Given the description of an element on the screen output the (x, y) to click on. 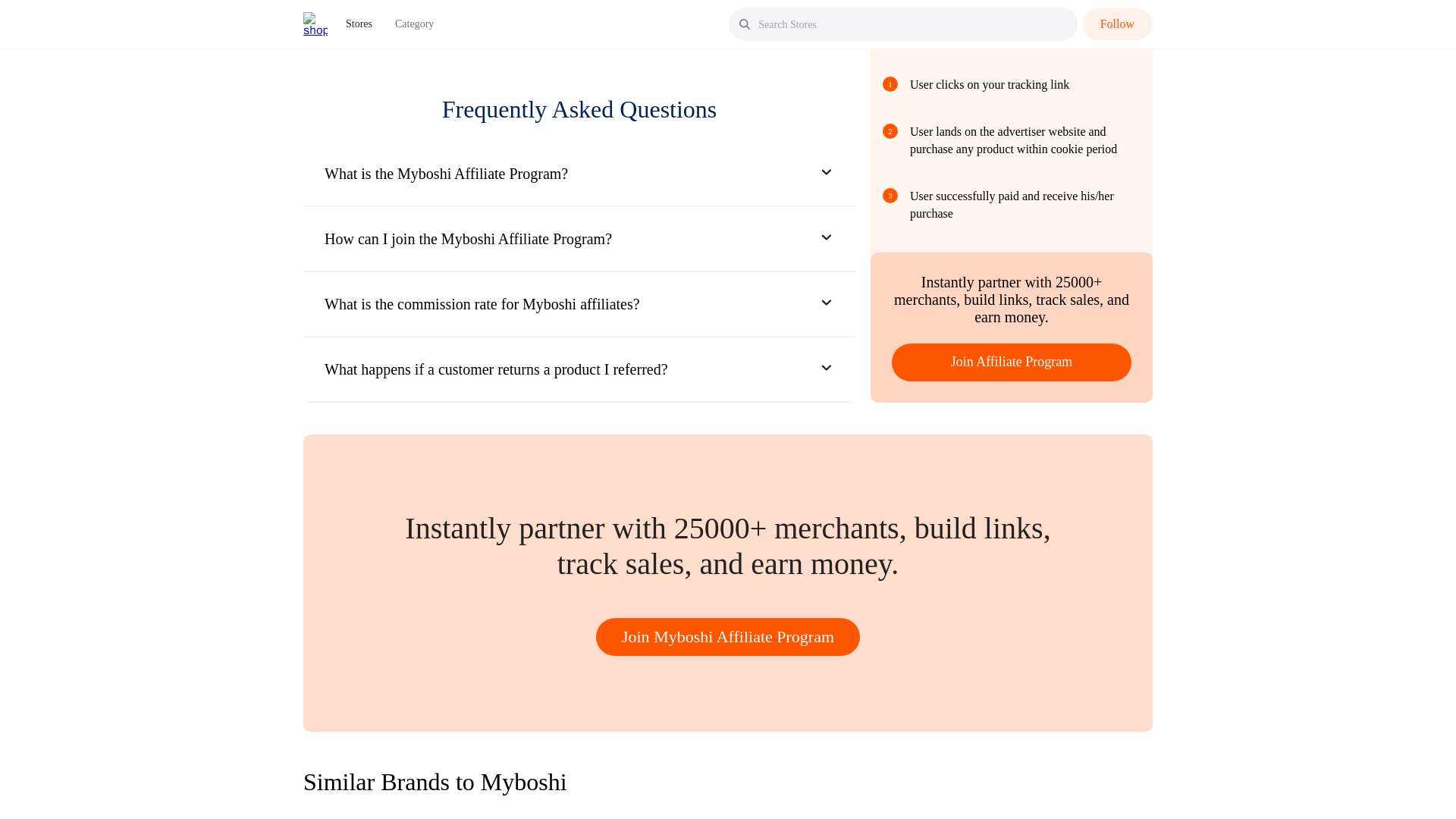
Join Myboshi Affiliate Program (727, 637)
Join Myboshi Affiliate Program (727, 636)
